Given the description of an element on the screen output the (x, y) to click on. 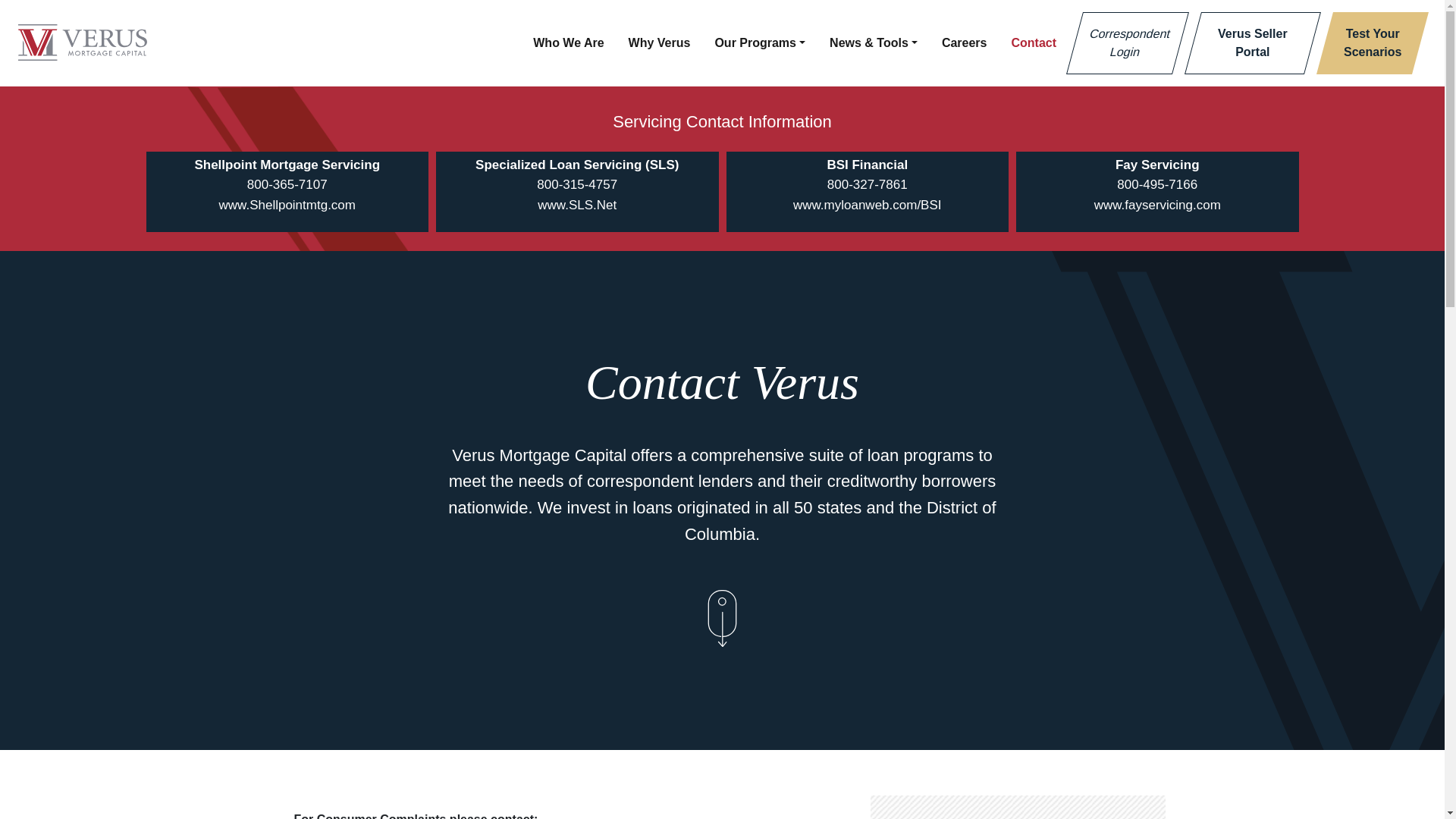
Test Your Scenarios (1364, 43)
Contact (1033, 42)
www.SLS.Net (576, 205)
Careers (964, 42)
Careers (1244, 43)
Why Verus (964, 42)
Verus Mortgage Capital - Home (660, 42)
Our Programs (82, 43)
Our Programs (758, 42)
Why Verus (1364, 43)
Contact (758, 42)
Who We Are (660, 42)
